Given the description of an element on the screen output the (x, y) to click on. 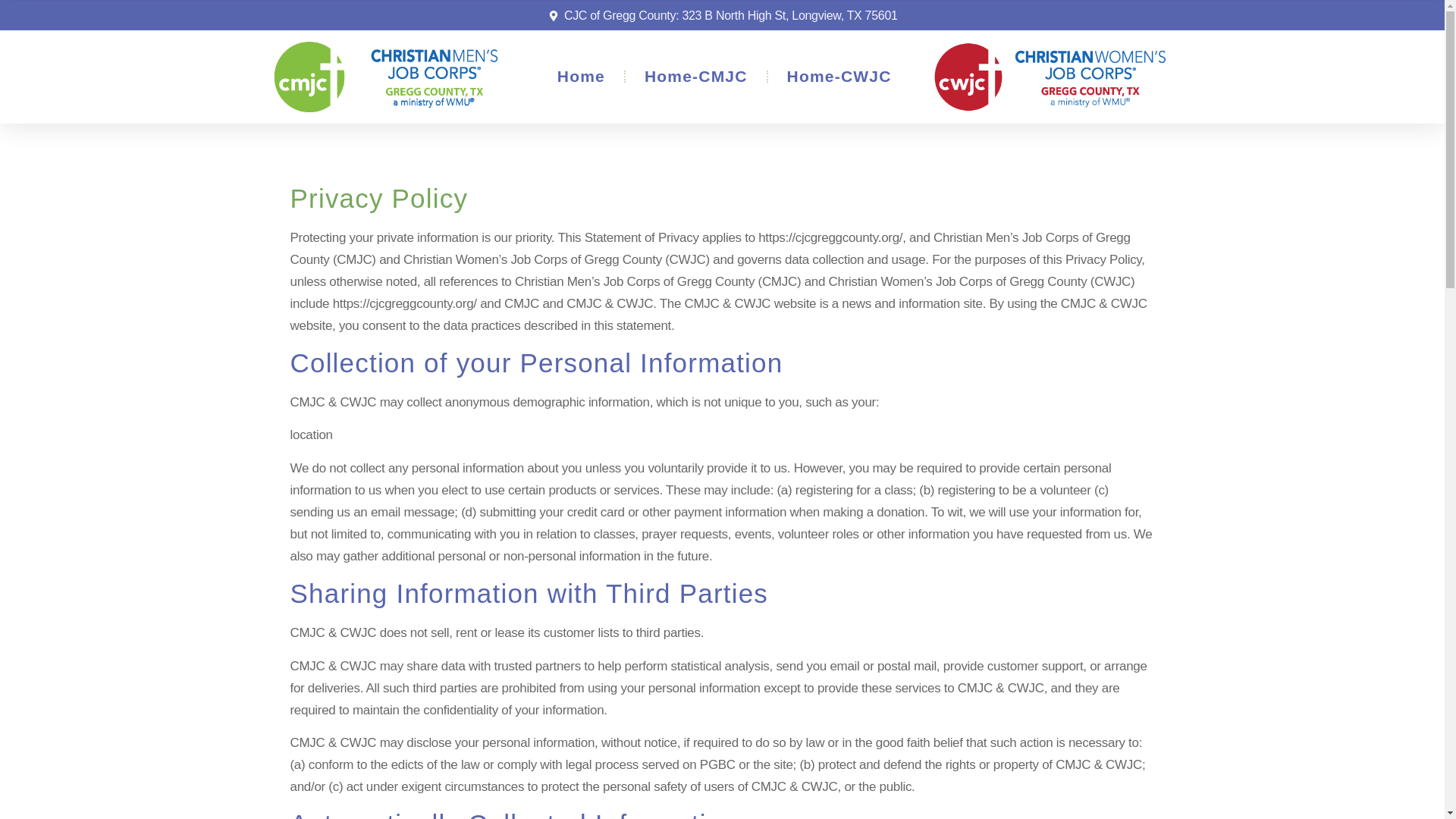
Home (581, 76)
Home-CWJC (839, 76)
Home-CMJC (696, 76)
